Given the description of an element on the screen output the (x, y) to click on. 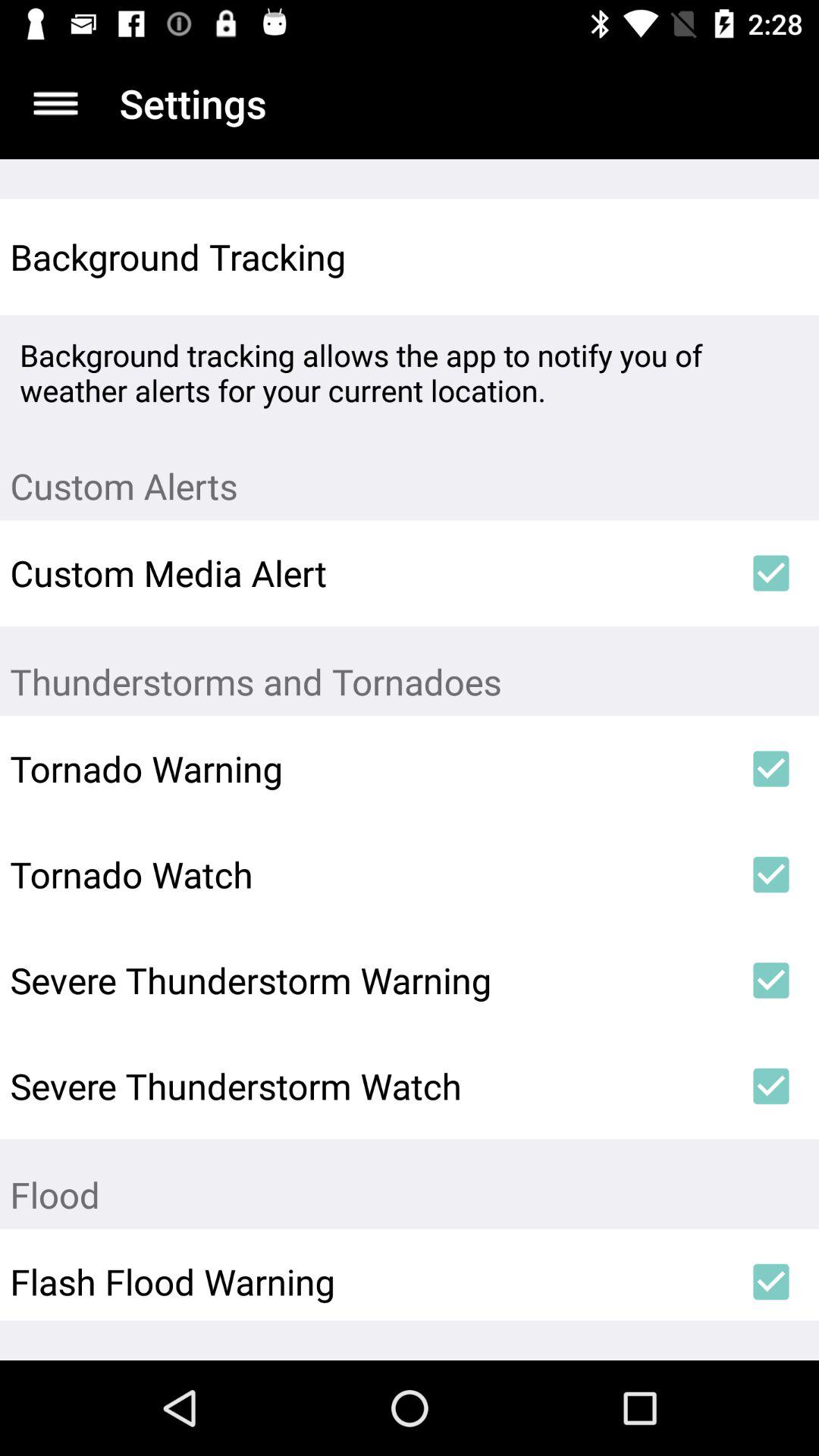
click the icon next to the tornado warning (771, 768)
